Given the description of an element on the screen output the (x, y) to click on. 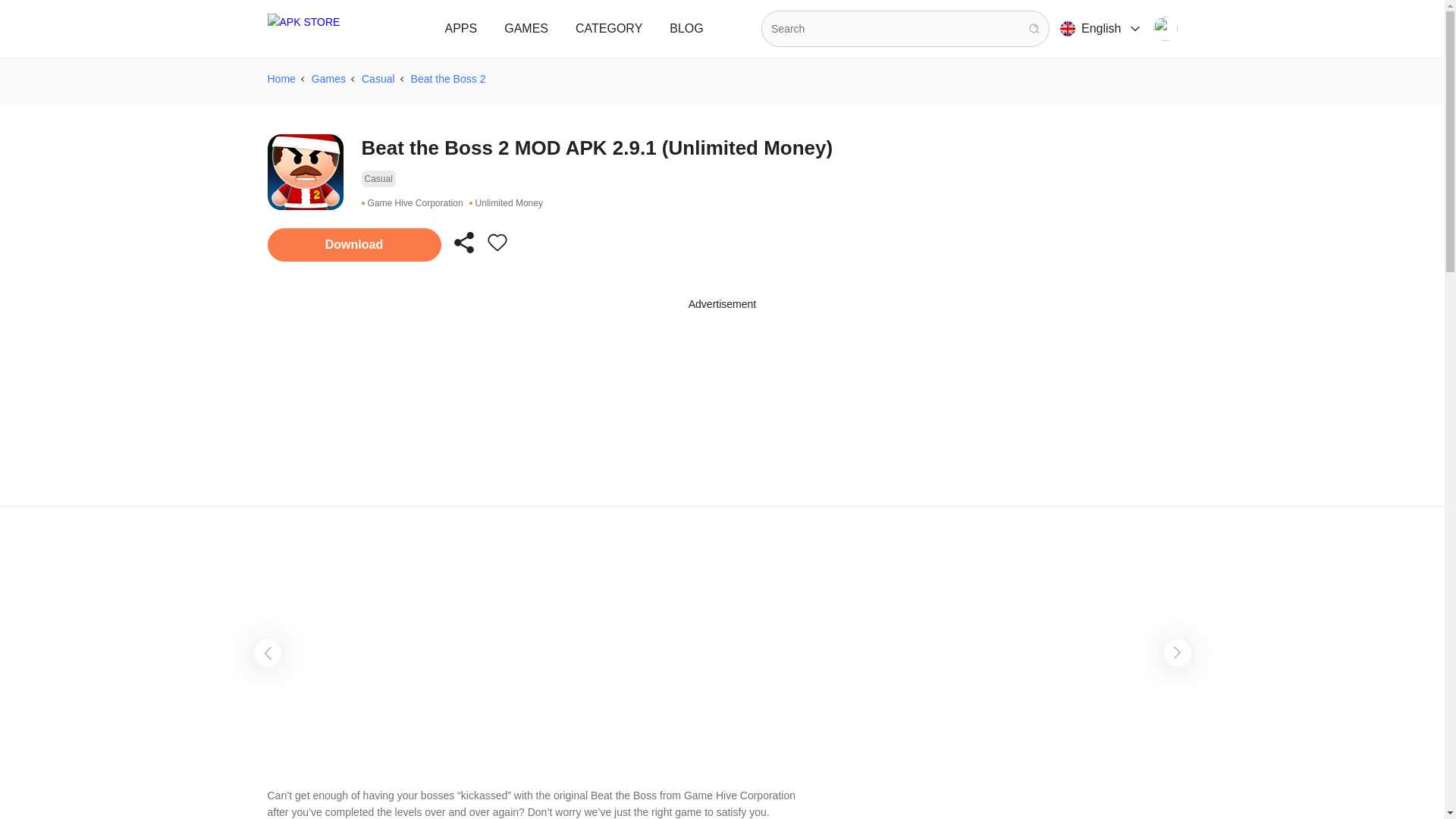
Casual (377, 78)
APPS (460, 28)
Casual (377, 178)
Download (353, 244)
Beat the Boss 2 (448, 78)
Games (328, 78)
BLOG (686, 28)
Home (280, 78)
GAMES (526, 28)
CATEGORY (608, 28)
